Given the description of an element on the screen output the (x, y) to click on. 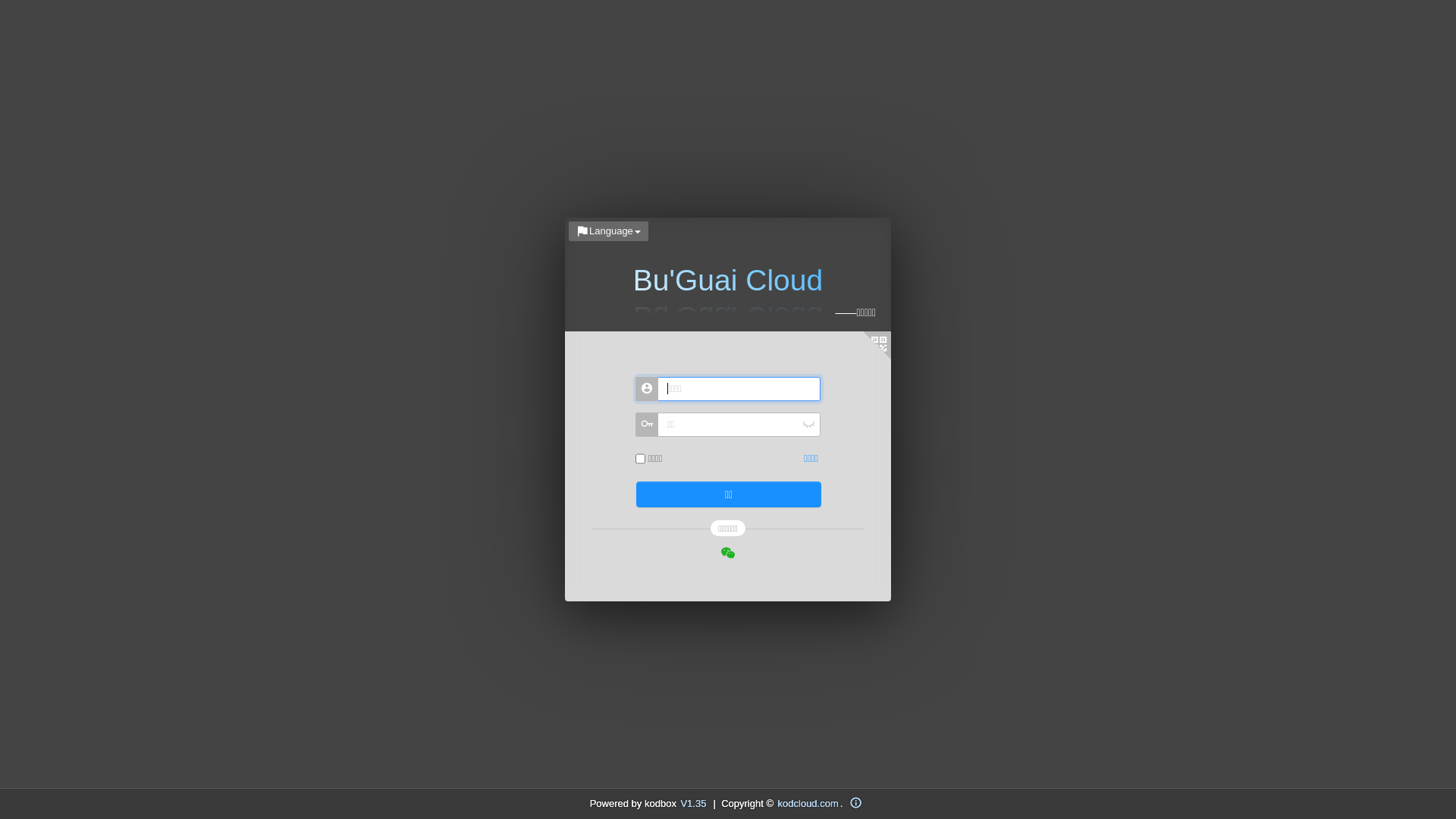
kodcloud.com Element type: text (808, 802)
V1.35 Element type: text (693, 802)
